Given the description of an element on the screen output the (x, y) to click on. 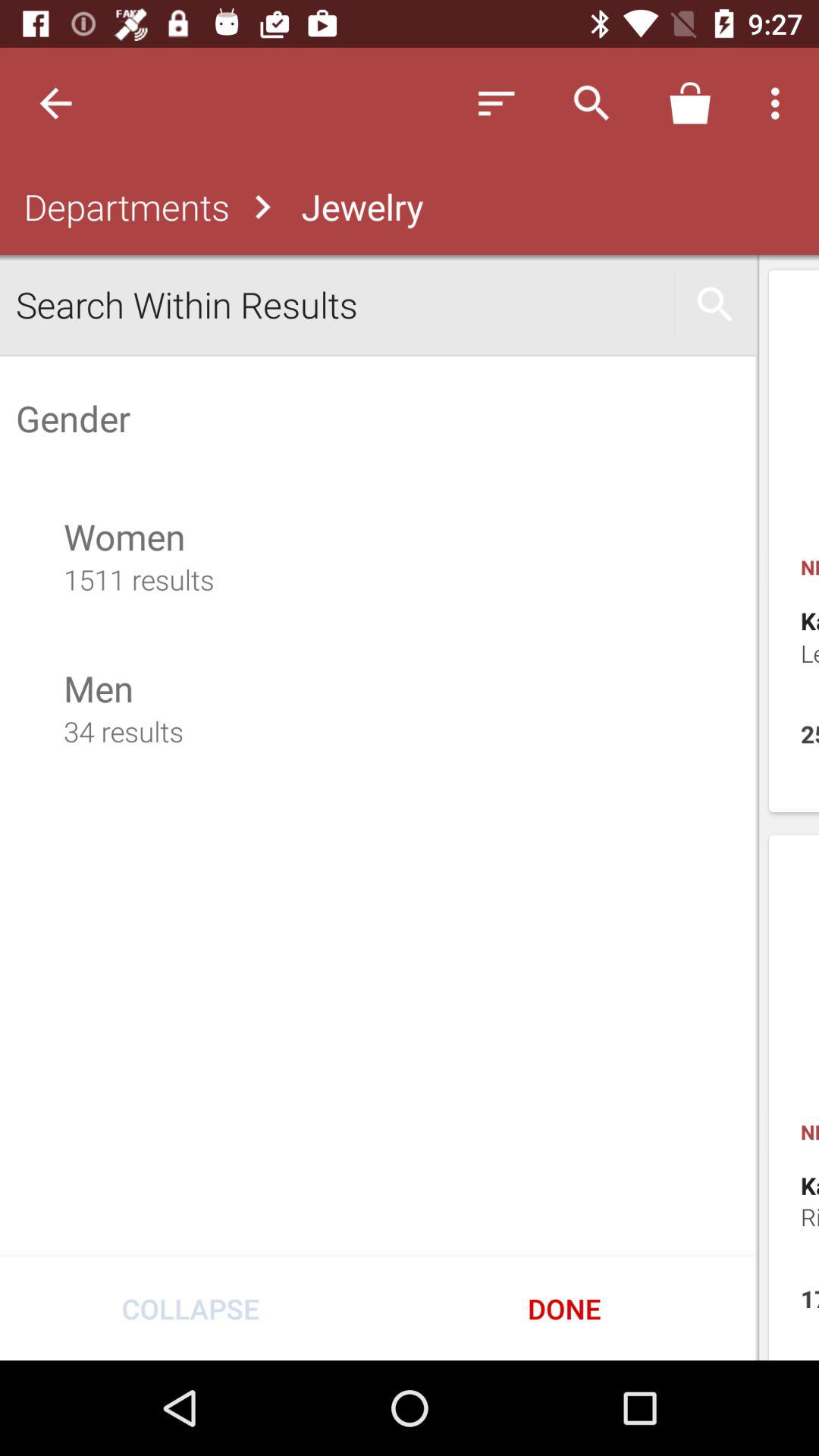
open the icon to the left of jewelry (122, 206)
